Given the description of an element on the screen output the (x, y) to click on. 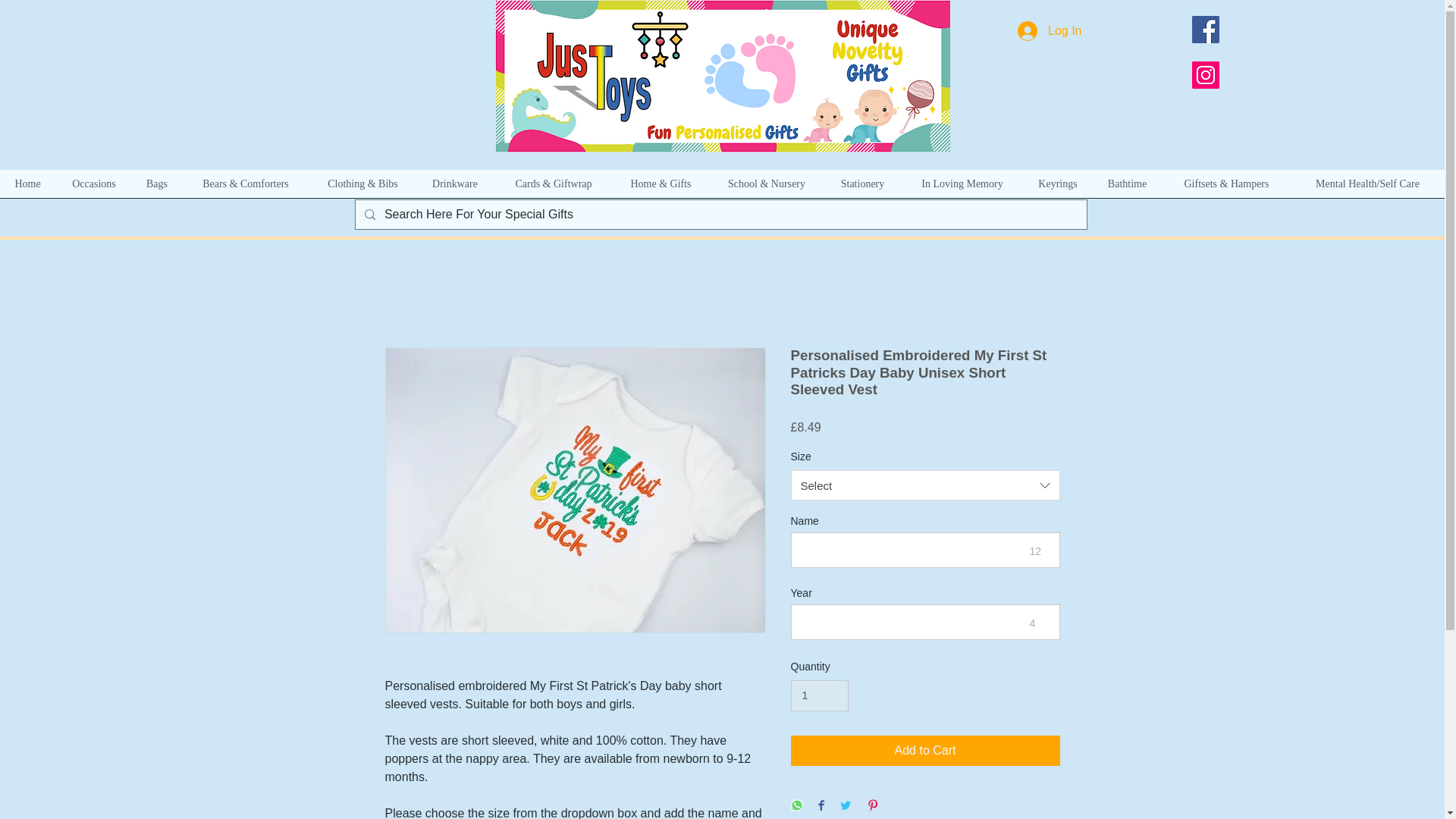
Bags (156, 188)
Occasions (93, 188)
Log In (1049, 30)
1 (818, 695)
Drinkware (454, 188)
Home (27, 188)
